Given the description of an element on the screen output the (x, y) to click on. 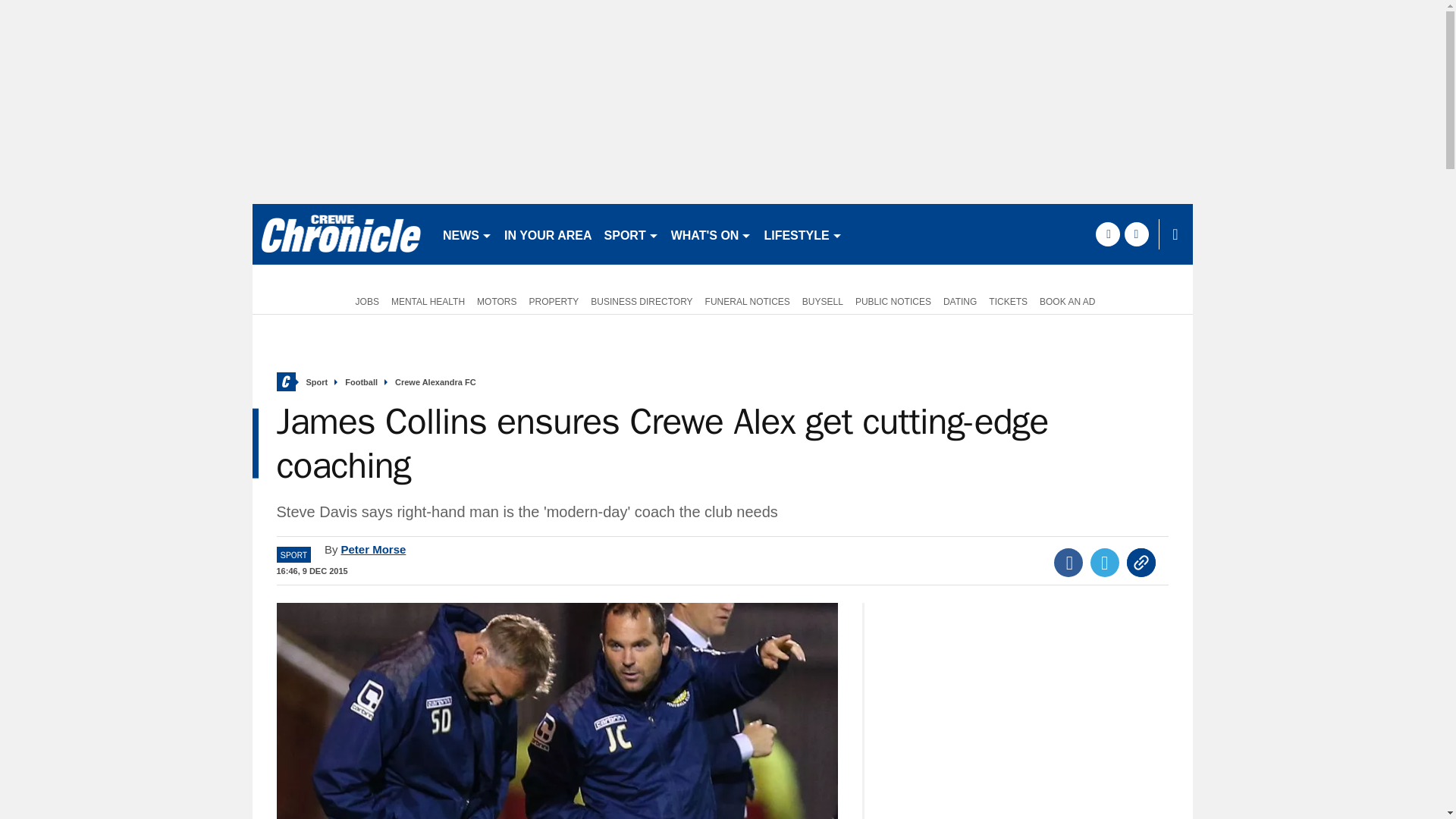
twitter (1136, 233)
Facebook (1068, 562)
SPORT (631, 233)
crewechronicle (340, 233)
LIFESTYLE (802, 233)
NEWS (466, 233)
Twitter (1104, 562)
WHAT'S ON (711, 233)
IN YOUR AREA (547, 233)
facebook (1106, 233)
